Given the description of an element on the screen output the (x, y) to click on. 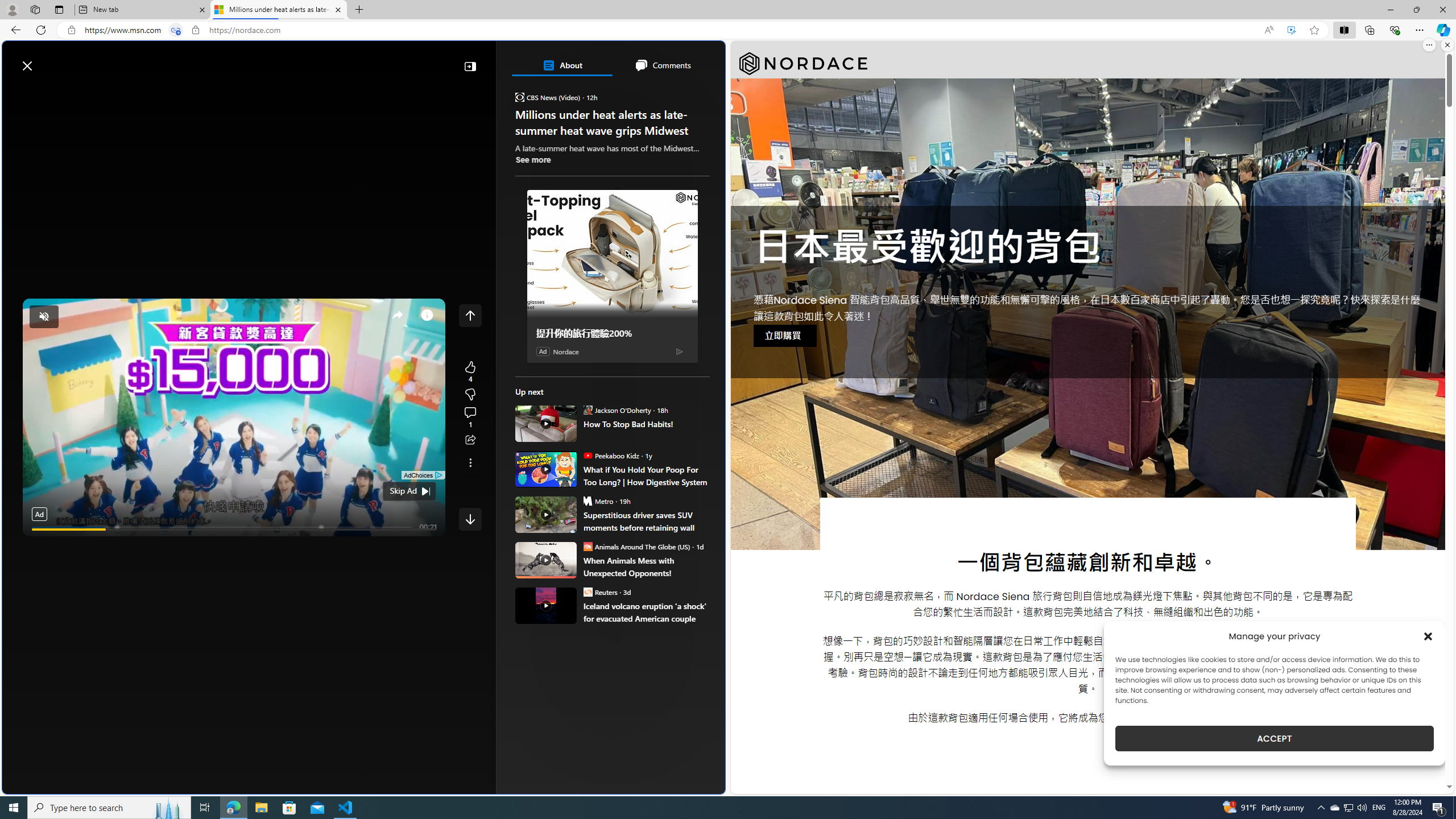
video progress bar (234, 529)
The Associated Press (554, 366)
Enter your search term (366, 59)
Open navigation menu (16, 92)
